Given the description of an element on the screen output the (x, y) to click on. 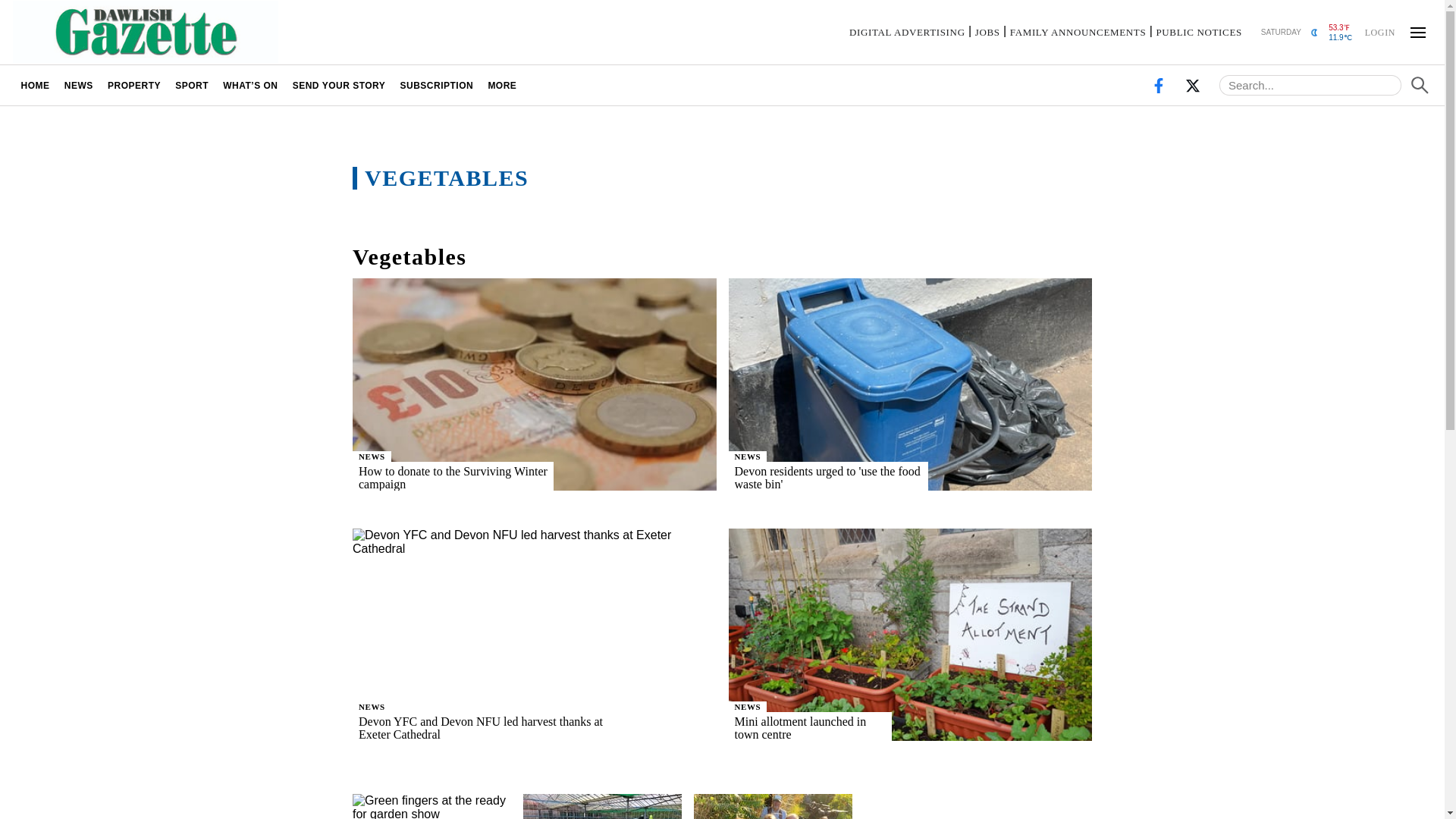
NEWS (371, 706)
NEWS (747, 706)
How to donate to the Surviving Winter campaign (478, 477)
NEWS (371, 456)
Mini allotment launched in town centre (829, 727)
Devon residents urged to 'use the food waste bin' (852, 477)
NEWS (747, 456)
LOGIN (1379, 31)
HOME (34, 85)
SPORT (191, 85)
MORE (502, 85)
SEND YOUR STORY (339, 85)
PUBLIC NOTICES (1198, 32)
PROPERTY (133, 85)
